Given the description of an element on the screen output the (x, y) to click on. 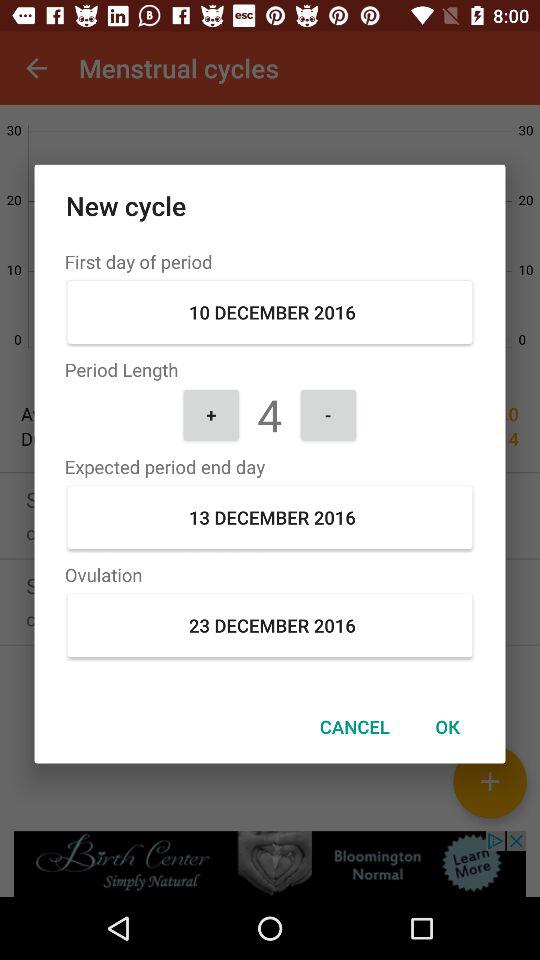
turn on icon above the expected period end item (328, 414)
